Given the description of an element on the screen output the (x, y) to click on. 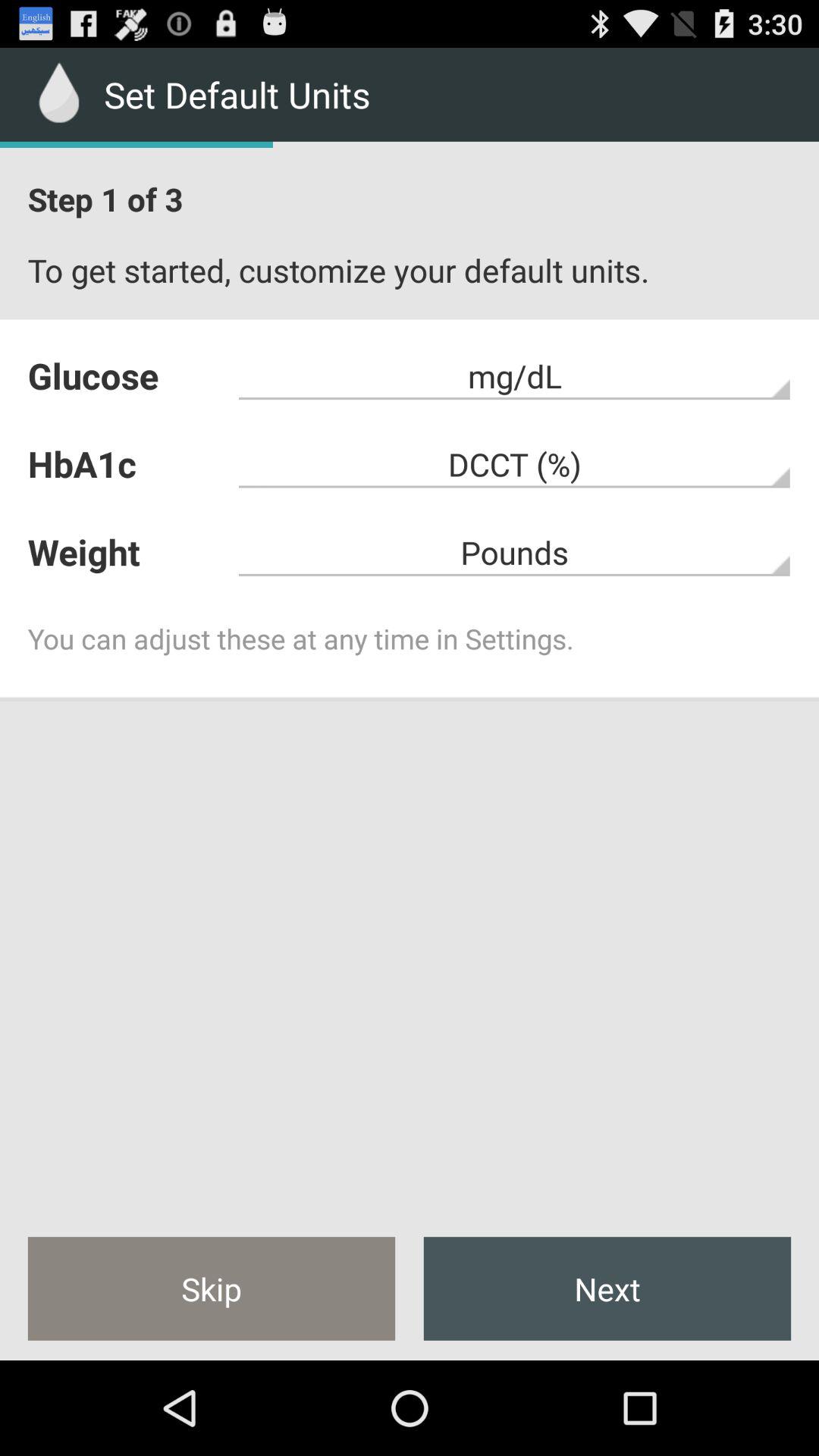
select the icon next to hba1c icon (514, 552)
